Given the description of an element on the screen output the (x, y) to click on. 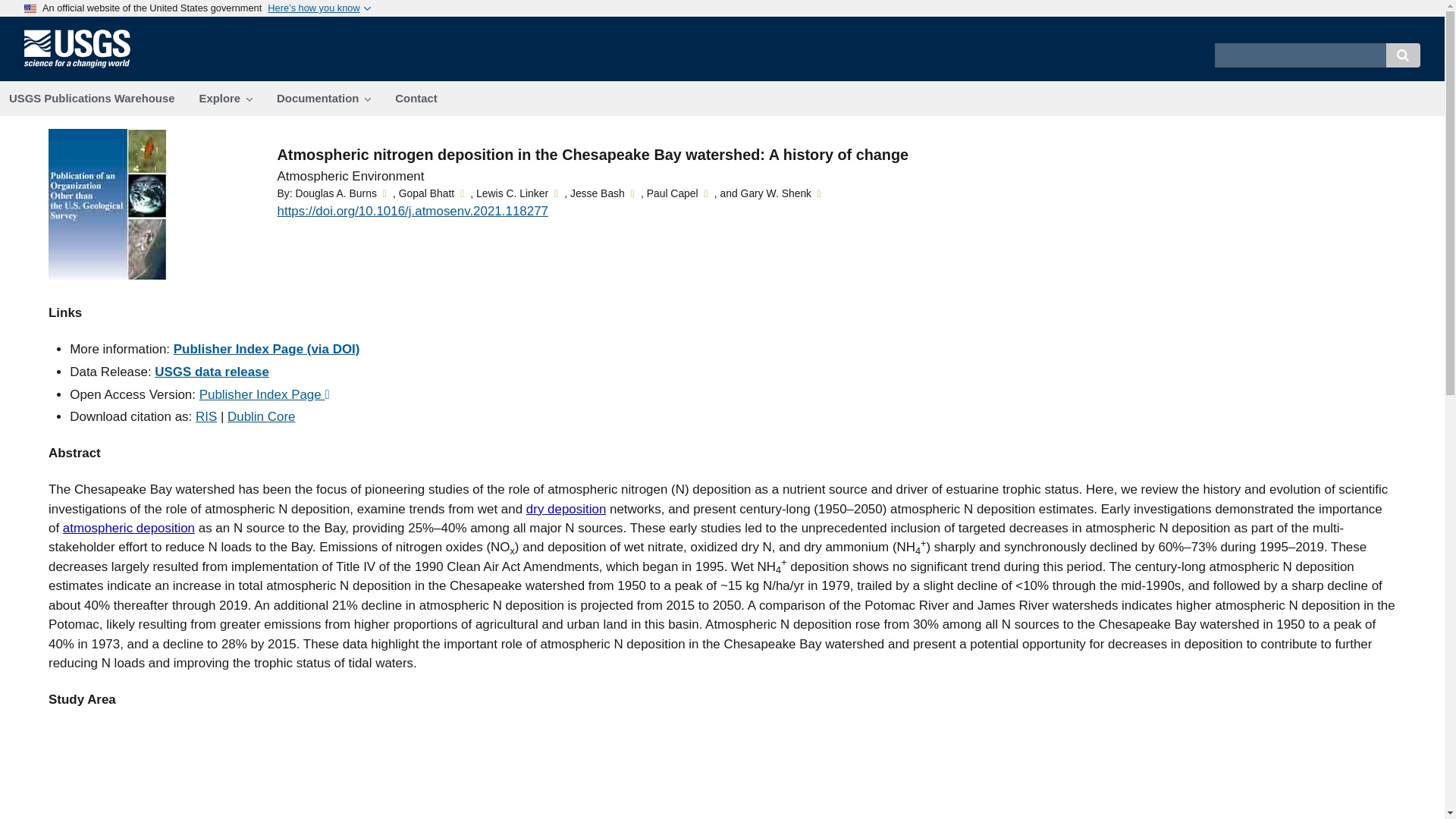
Documentation (323, 98)
dry deposition (565, 509)
Contact (415, 98)
atmospheric deposition (128, 527)
 Index Page (266, 349)
 Data Release (211, 371)
RIS (205, 416)
Explore (225, 98)
Publisher Index Page (264, 394)
